Given the description of an element on the screen output the (x, y) to click on. 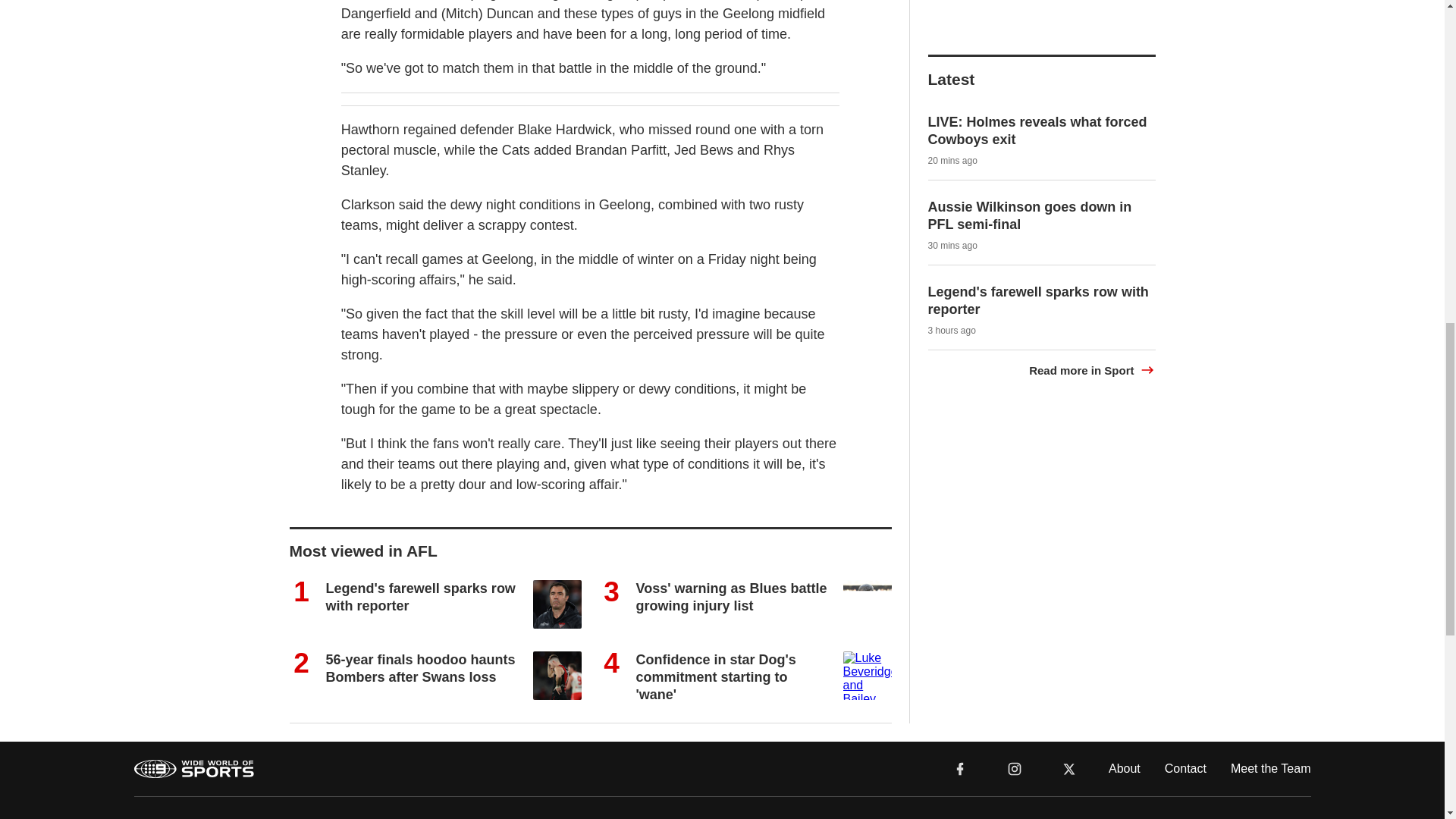
facebook (960, 768)
Voss' warning as Blues battle growing injury list (730, 596)
Confidence in star Dog's commitment starting to 'wane' (714, 676)
x (1069, 767)
x (1069, 768)
instagram (1013, 767)
facebook (959, 767)
x (1069, 767)
Legend's farewell sparks row with reporter (420, 596)
56-year finals hoodoo haunts Bombers after Swans loss (420, 667)
